Given the description of an element on the screen output the (x, y) to click on. 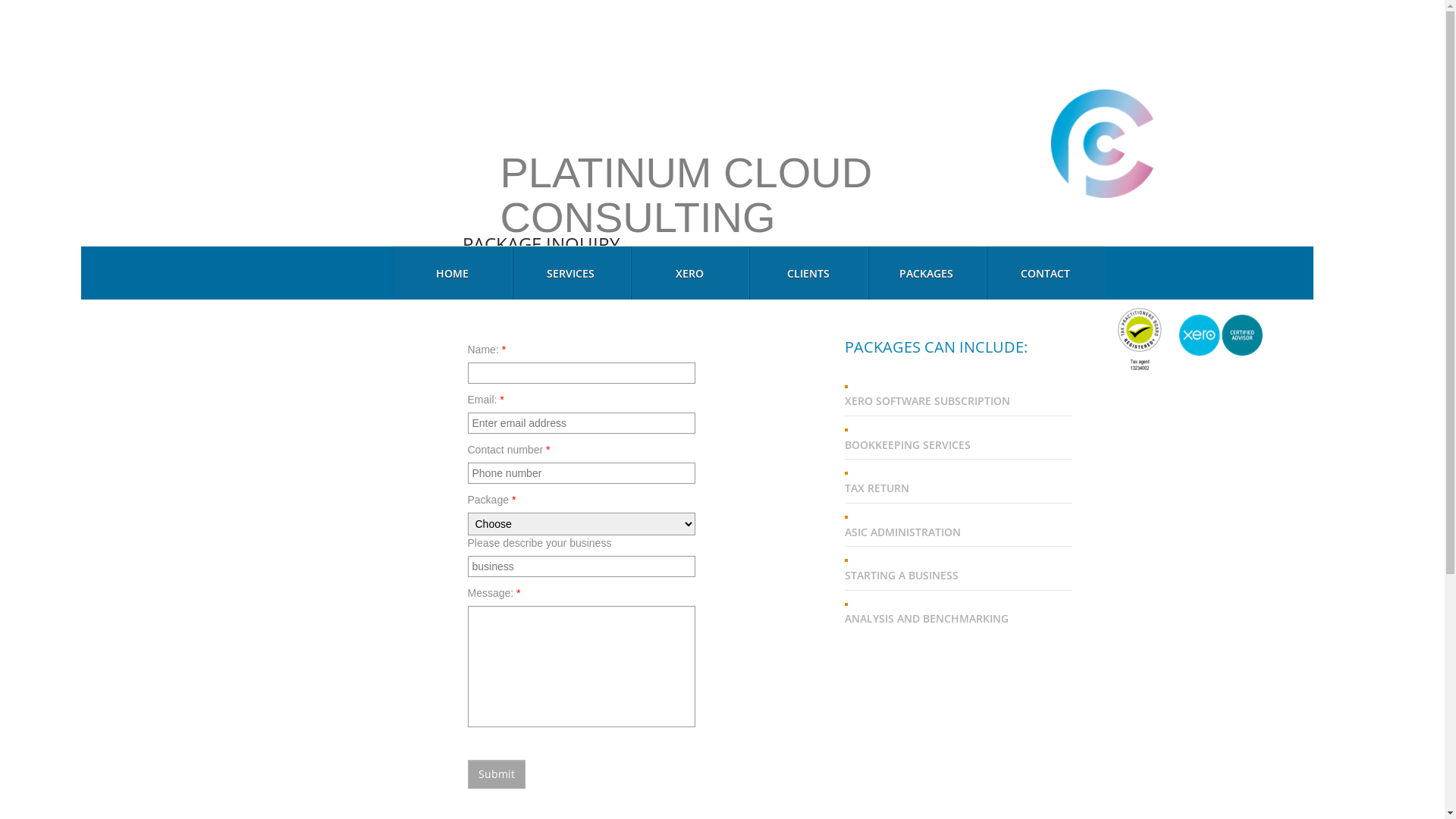
CONTACT Element type: text (1044, 272)
PACKAGES Element type: text (926, 272)
SERVICES Element type: text (570, 272)
CLIENTS Element type: text (807, 272)
XERO Element type: text (689, 272)
HOME Element type: text (451, 272)
